Given the description of an element on the screen output the (x, y) to click on. 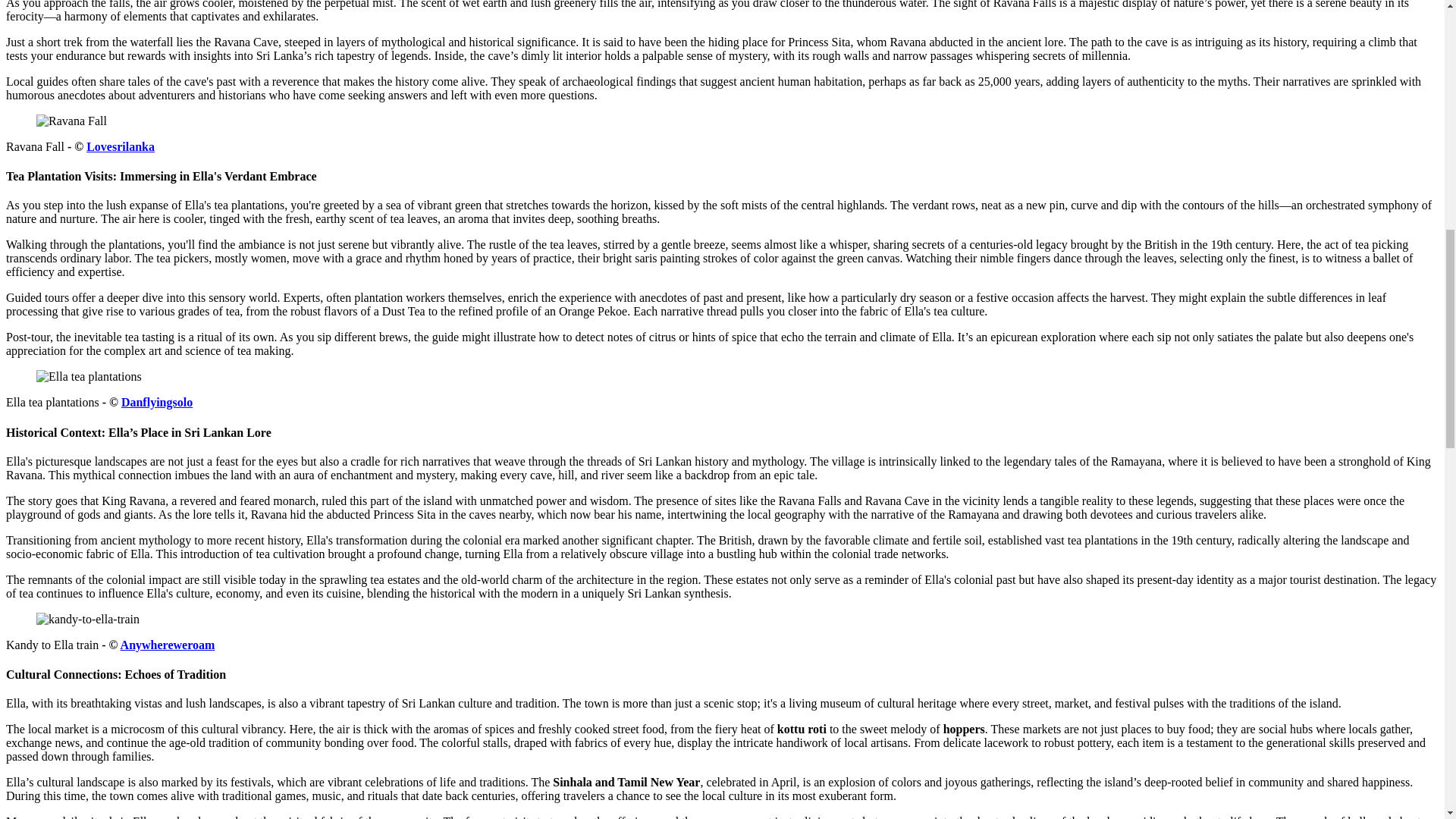
Danflyingsolo (156, 401)
Lovesrilanka (119, 146)
Anywhereweroam (167, 644)
